Given the description of an element on the screen output the (x, y) to click on. 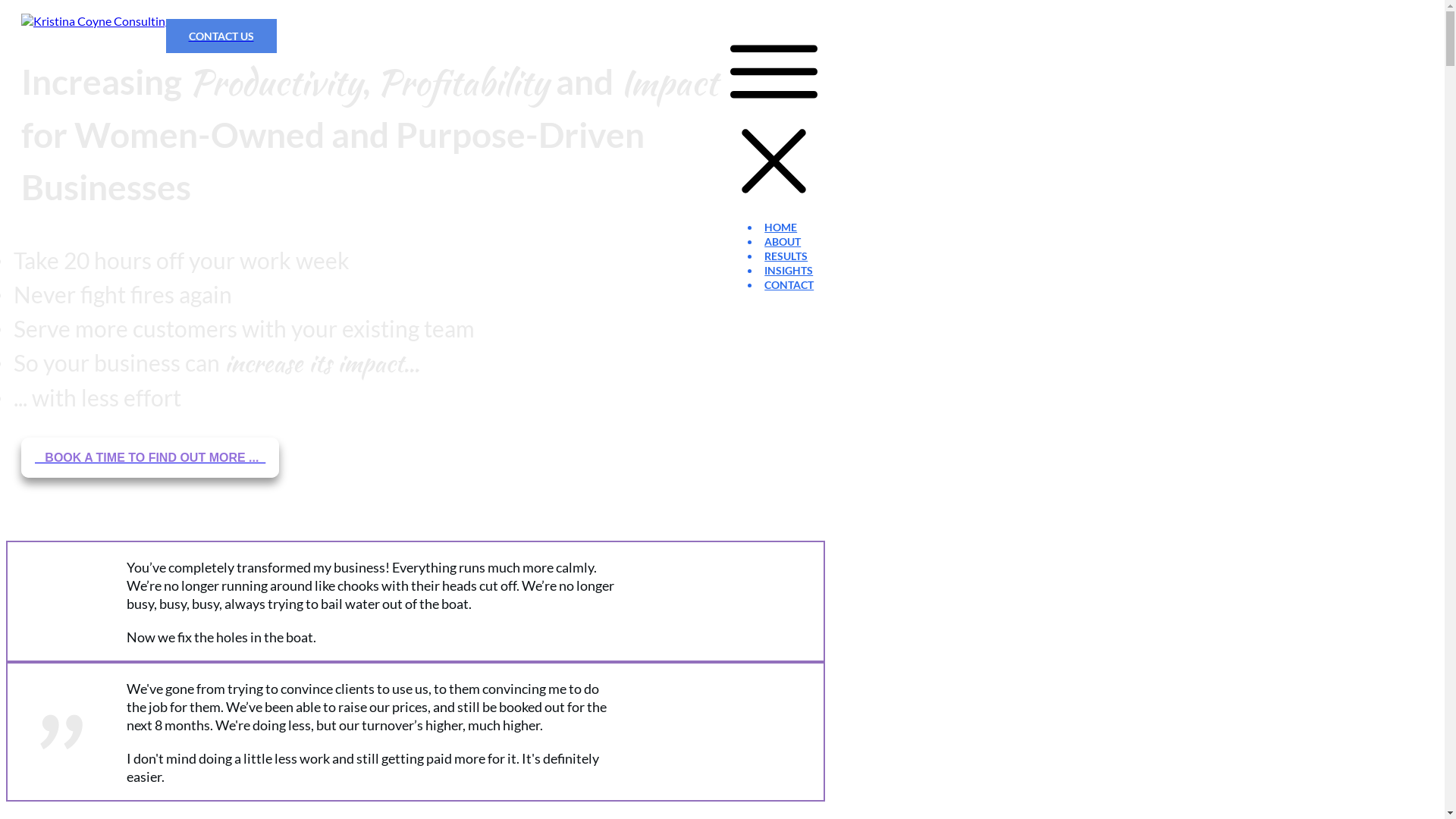
HOME Element type: text (780, 226)
INSIGHTS Element type: text (788, 269)
CONTACT US Element type: text (221, 35)
ABOUT Element type: text (782, 241)
RESULTS Element type: text (785, 255)
CONTACT Element type: text (788, 284)
   BOOK A TIME TO FIND OUT MORE ...   Element type: text (150, 457)
